Given the description of an element on the screen output the (x, y) to click on. 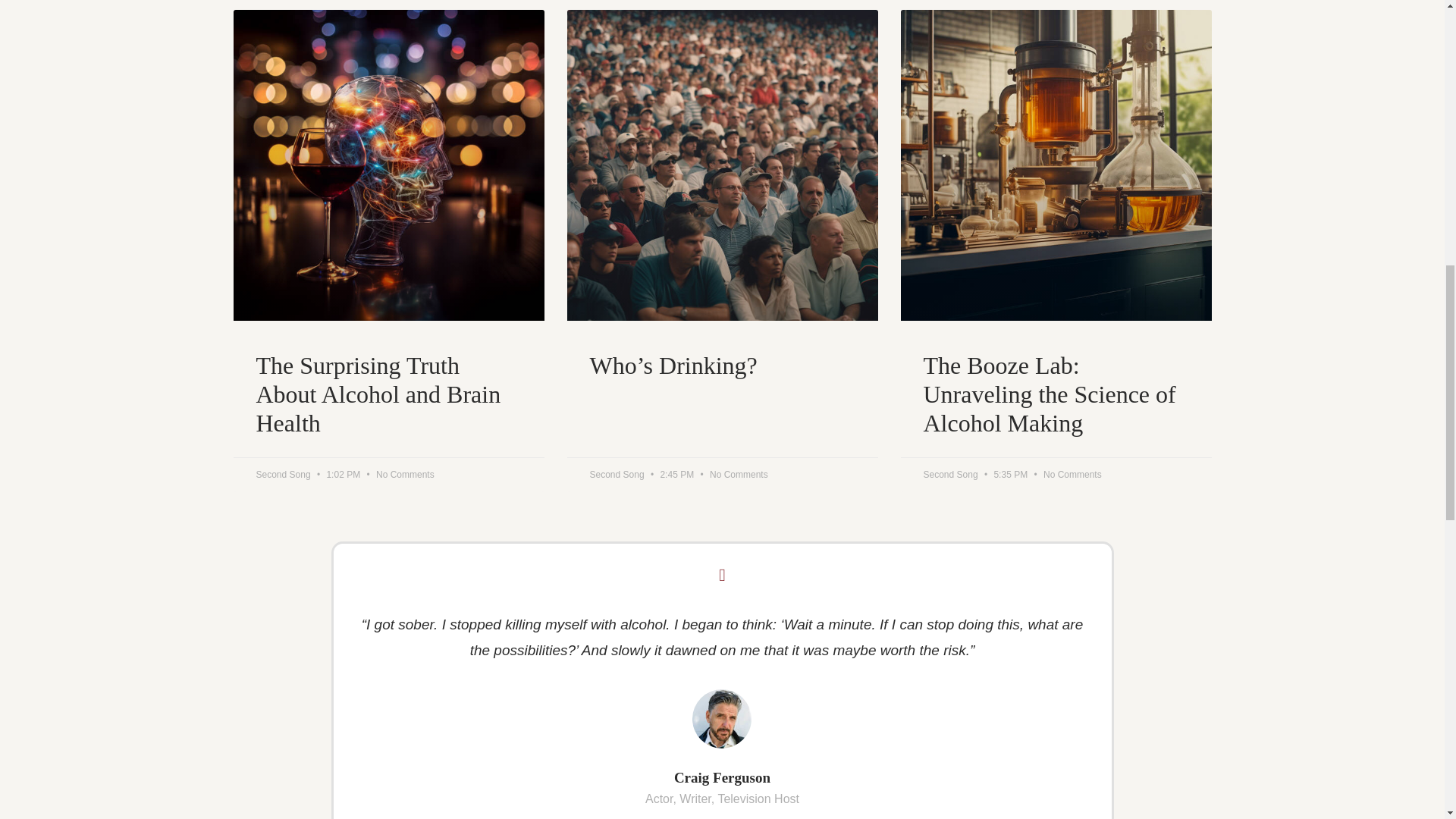
The Booze Lab: Unraveling the Science of Alcohol Making (1056, 394)
The Surprising Truth About Alcohol and Brain Health (388, 394)
